Given the description of an element on the screen output the (x, y) to click on. 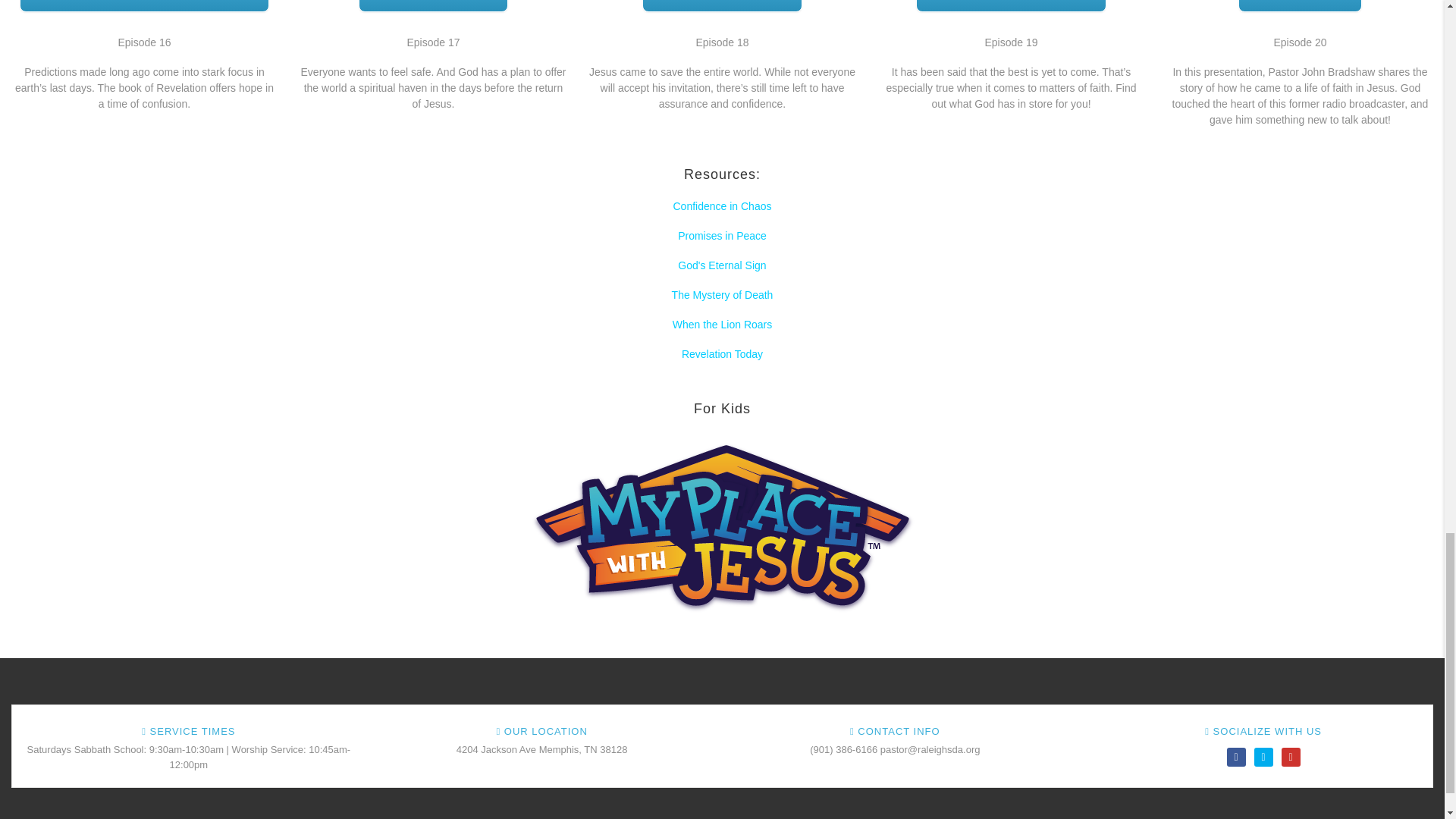
For Kids (721, 526)
